Given the description of an element on the screen output the (x, y) to click on. 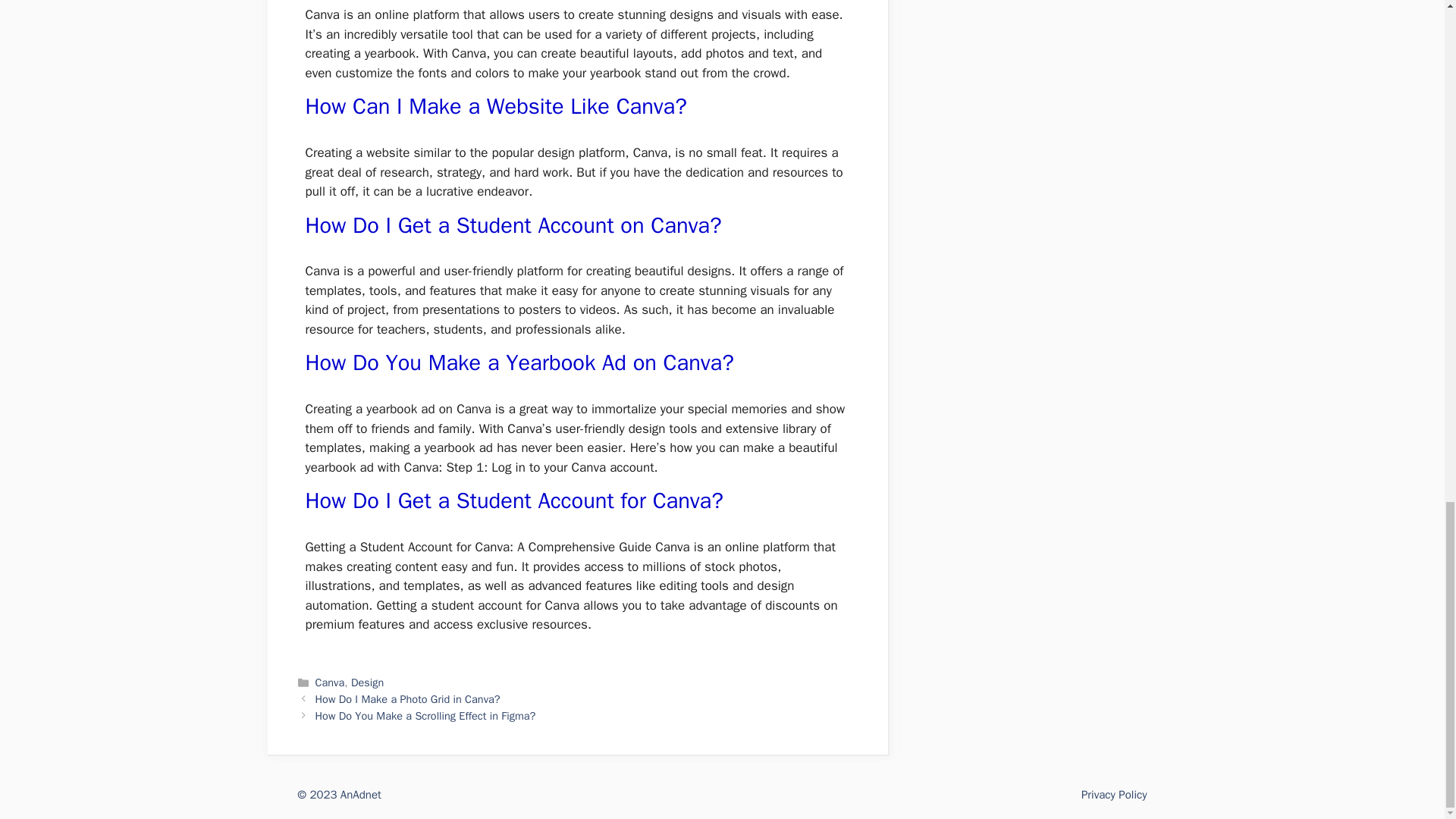
Design (367, 682)
How Can I Make a Website Like Canva? (494, 106)
How Do I Get a Student Account for Canva? (513, 500)
How Do I Make a Photo Grid in Canva? (407, 698)
Canva (330, 682)
Privacy Policy (1114, 794)
How Do You Make a Scrolling Effect in Figma? (425, 715)
How Do You Make a Yearbook Ad on Canva? (518, 362)
How Do I Get a Student Account on Canva? (512, 225)
